Given the description of an element on the screen output the (x, y) to click on. 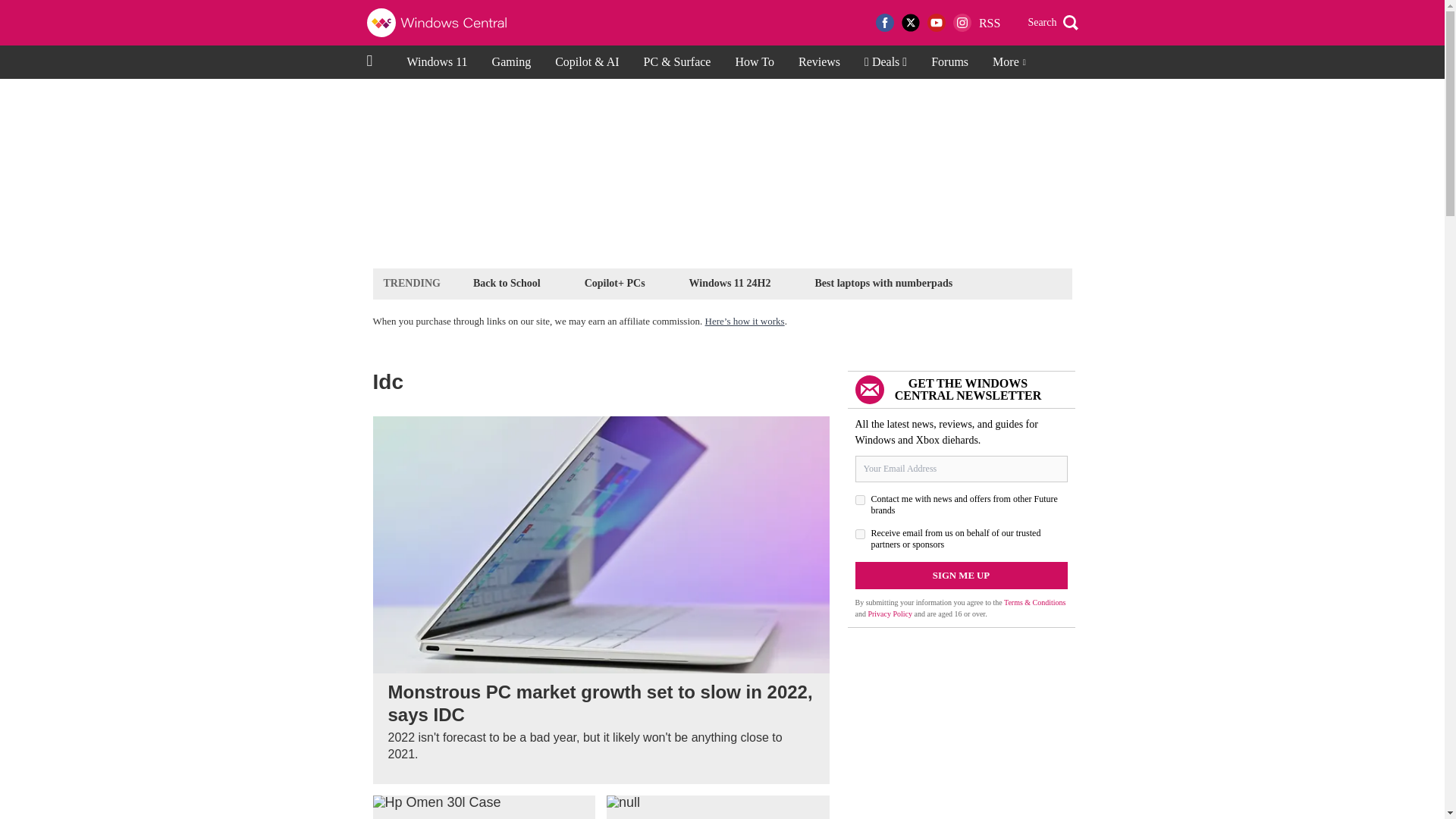
Windows 11 24H2 (730, 282)
Best laptops with numberpads (883, 282)
PC shipments up in Q2 2019 according to IDC and Gartner (718, 807)
How To (754, 61)
Forums (948, 61)
on (860, 500)
Windows 11 (436, 61)
on (860, 533)
Reviews (818, 61)
